Given the description of an element on the screen output the (x, y) to click on. 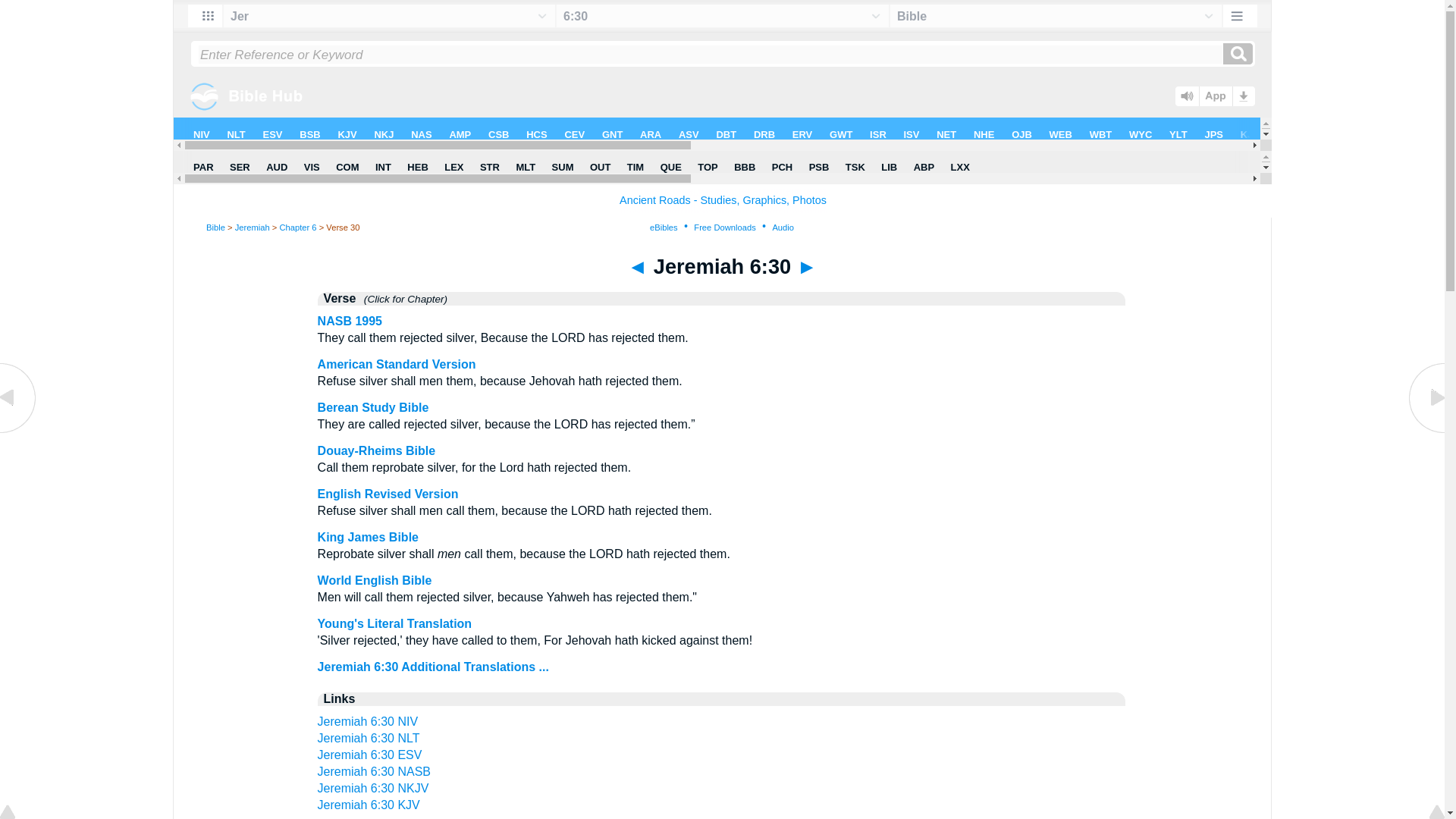
Douay-Rheims Bible (376, 450)
Jeremiah 6:30 ESV (369, 754)
Jeremiah 6:30 Additional Translations ... (432, 666)
Young's Literal Translation (394, 623)
American Standard Version (396, 364)
Jeremiah 6:30 NLT (368, 738)
Jeremiah 6:30 KJV (368, 804)
Berean Study Bible (373, 407)
NASB 1995 (349, 320)
Click any translation name for full chapter (400, 298)
